Given the description of an element on the screen output the (x, y) to click on. 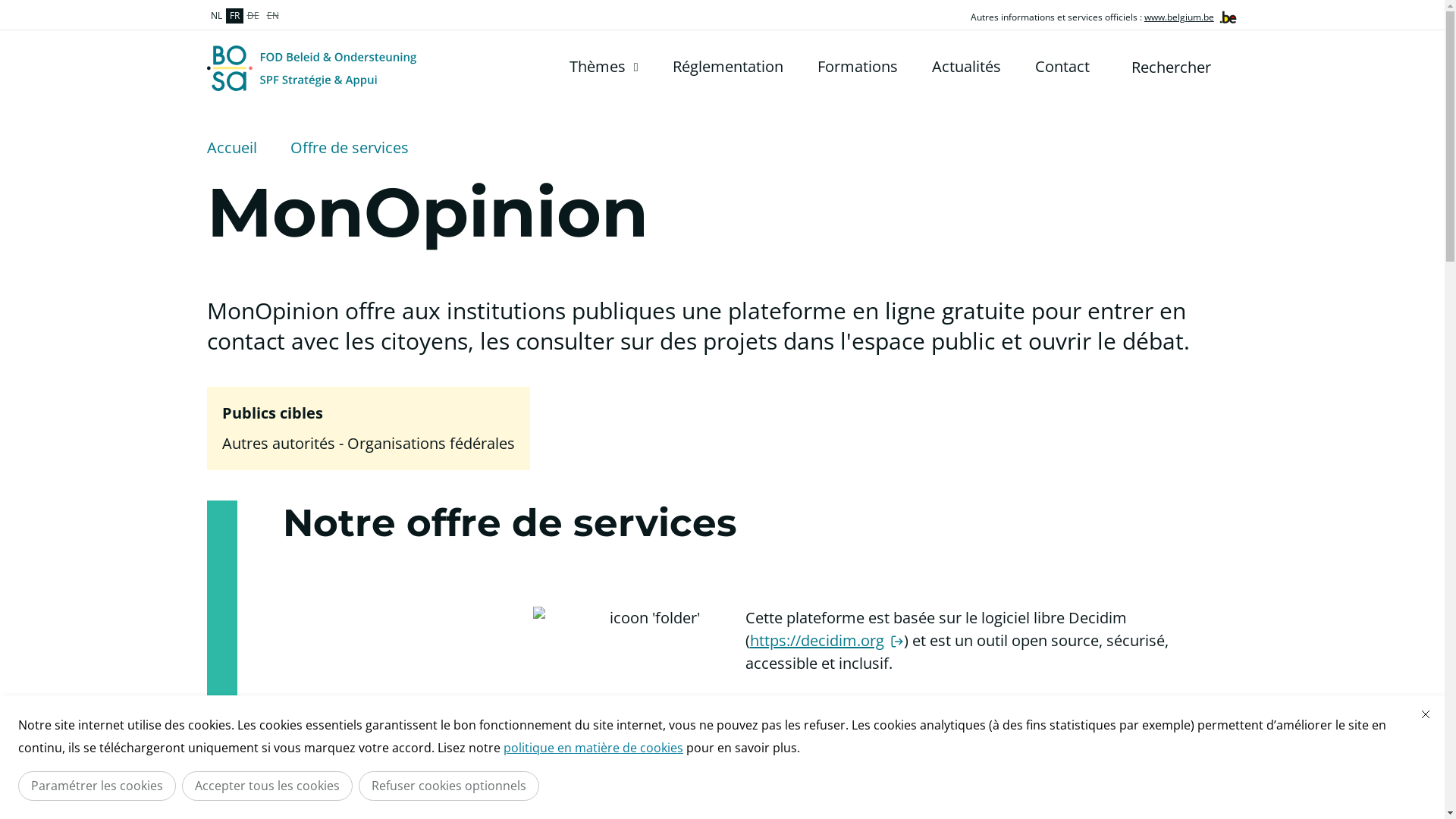
Refuser cookies optionnels Element type: text (448, 785)
Fermer Element type: hover (1425, 714)
Rechercher Element type: hover (1186, 66)
Formations Element type: text (857, 66)
Accueil Element type: text (231, 147)
FR Element type: text (234, 15)
Offre de services Element type: text (348, 147)
Back to BOSA home page Element type: hover (311, 68)
https://decidim.org Element type: text (826, 640)
www.belgium.be Element type: text (1179, 16)
Contact Element type: text (1061, 66)
NL Element type: text (215, 15)
Aller au contenu principal Element type: text (7, 4)
Accepter tous les cookies Element type: text (267, 785)
Appliquer Element type: text (1228, 66)
